Given the description of an element on the screen output the (x, y) to click on. 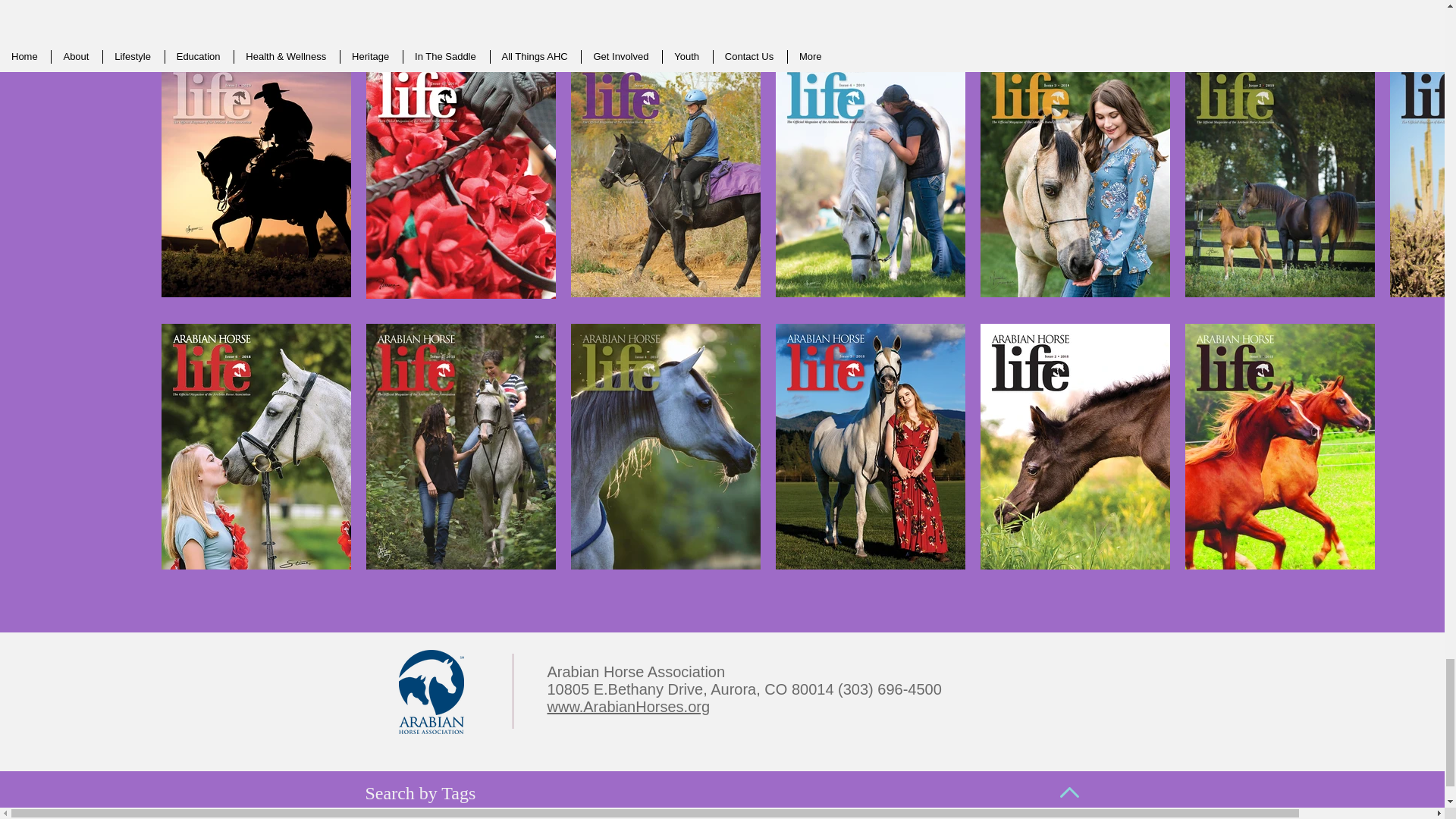
Arabians. horse show (590, 813)
hay (950, 813)
AHYA (379, 813)
Arabians (506, 813)
arabian horses (439, 813)
feed (873, 813)
barn (662, 813)
feeding (912, 813)
Colorado Arabian Breeders Alliance (767, 813)
